Given the description of an element on the screen output the (x, y) to click on. 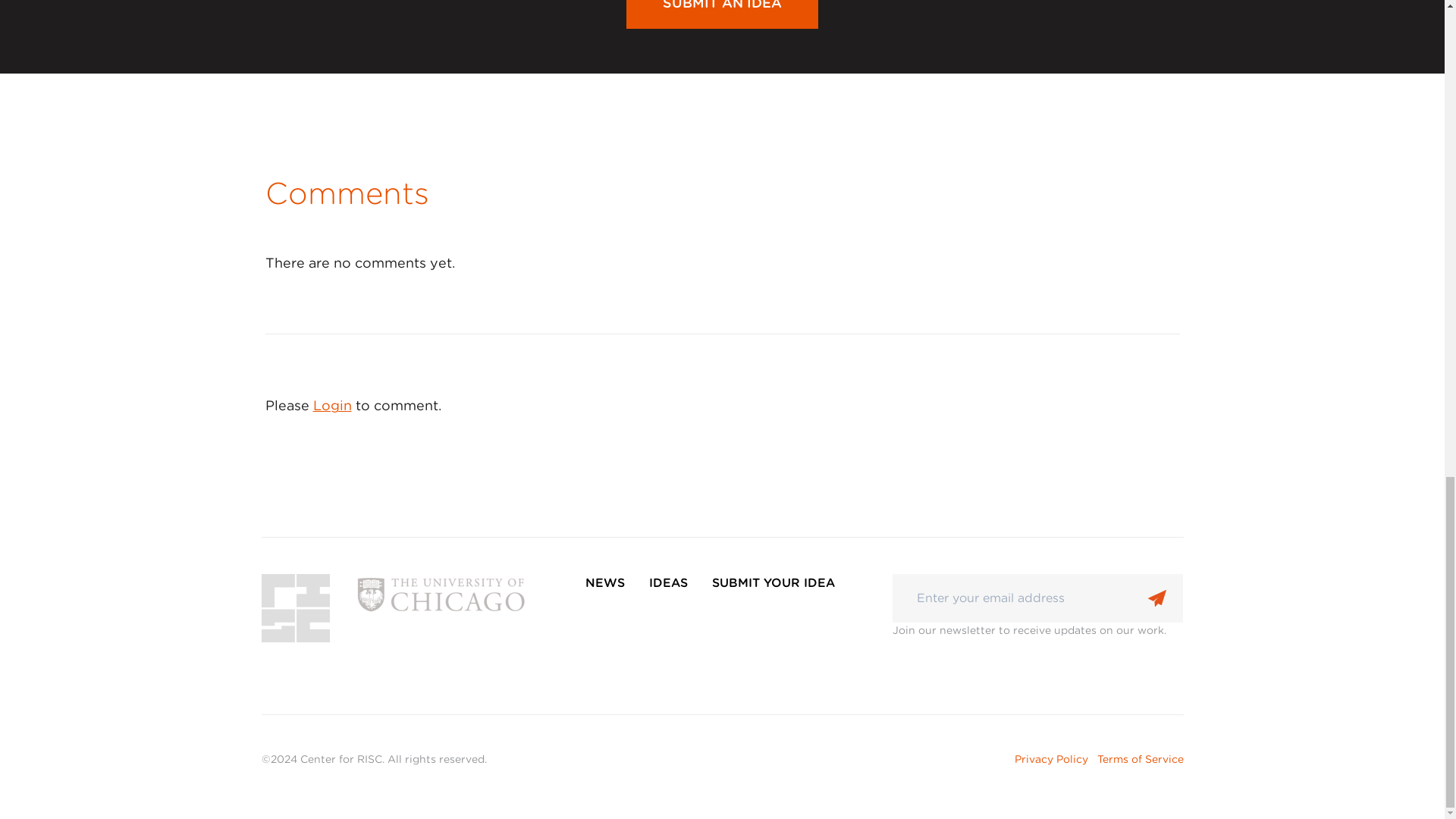
Login (331, 404)
Terms of Service (1139, 758)
SUBMIT AN IDEA (722, 14)
SUBMIT YOUR IDEA (773, 626)
Privacy Policy (1050, 758)
